Given the description of an element on the screen output the (x, y) to click on. 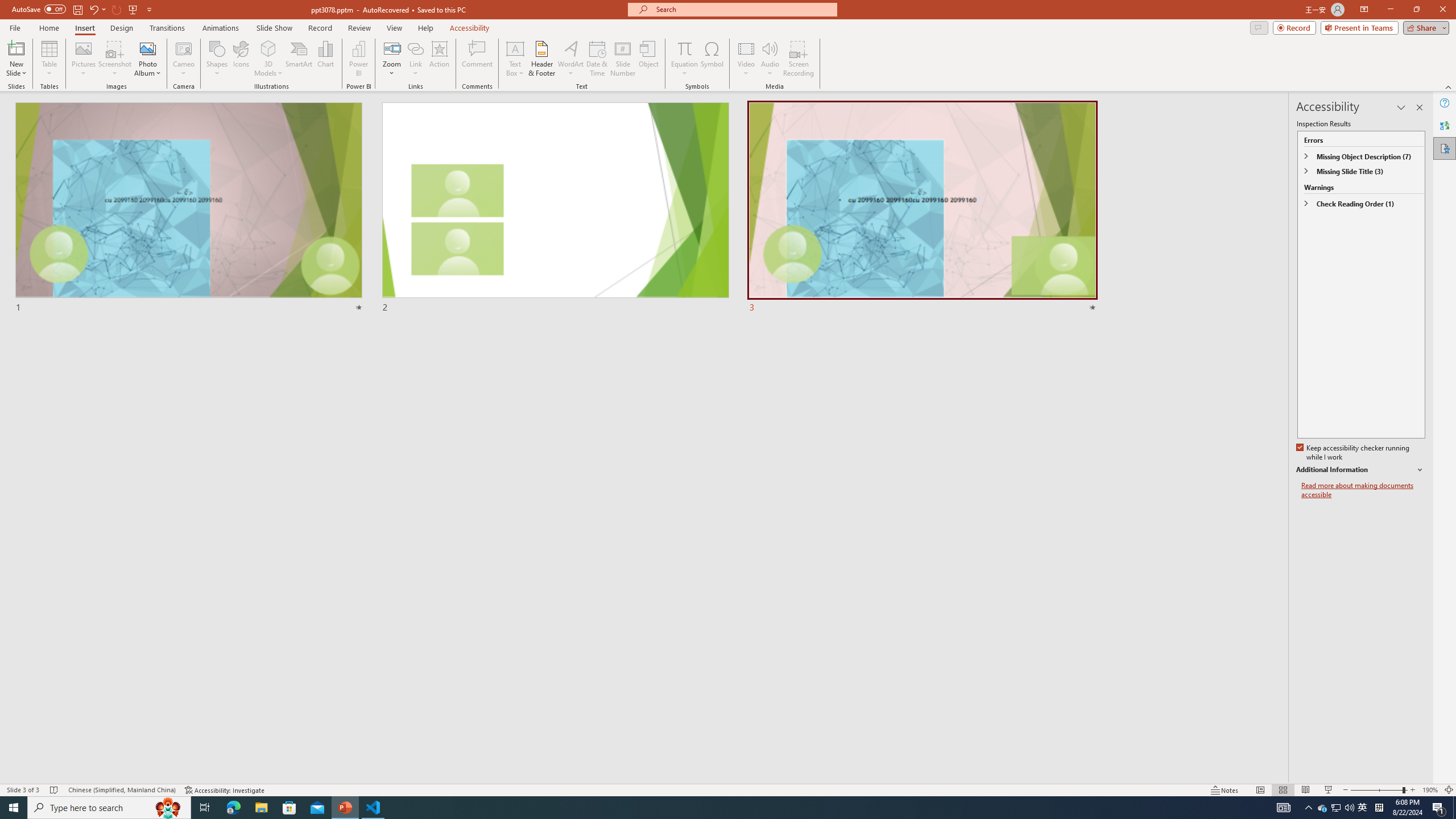
Equation (683, 48)
Draw Horizontal Text Box (515, 48)
Photo Album... (147, 58)
